Given the description of an element on the screen output the (x, y) to click on. 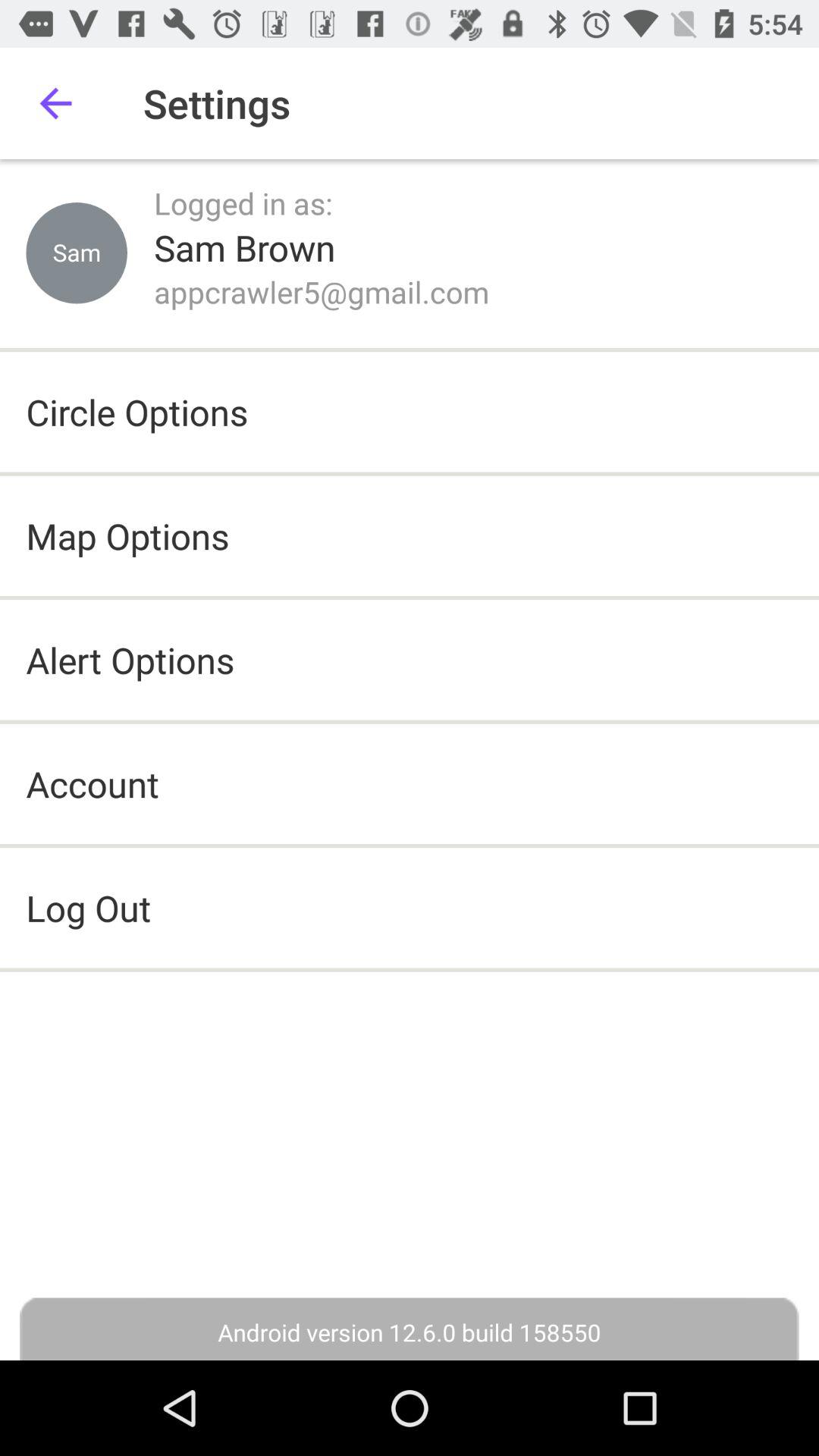
launch item next to settings item (55, 103)
